Given the description of an element on the screen output the (x, y) to click on. 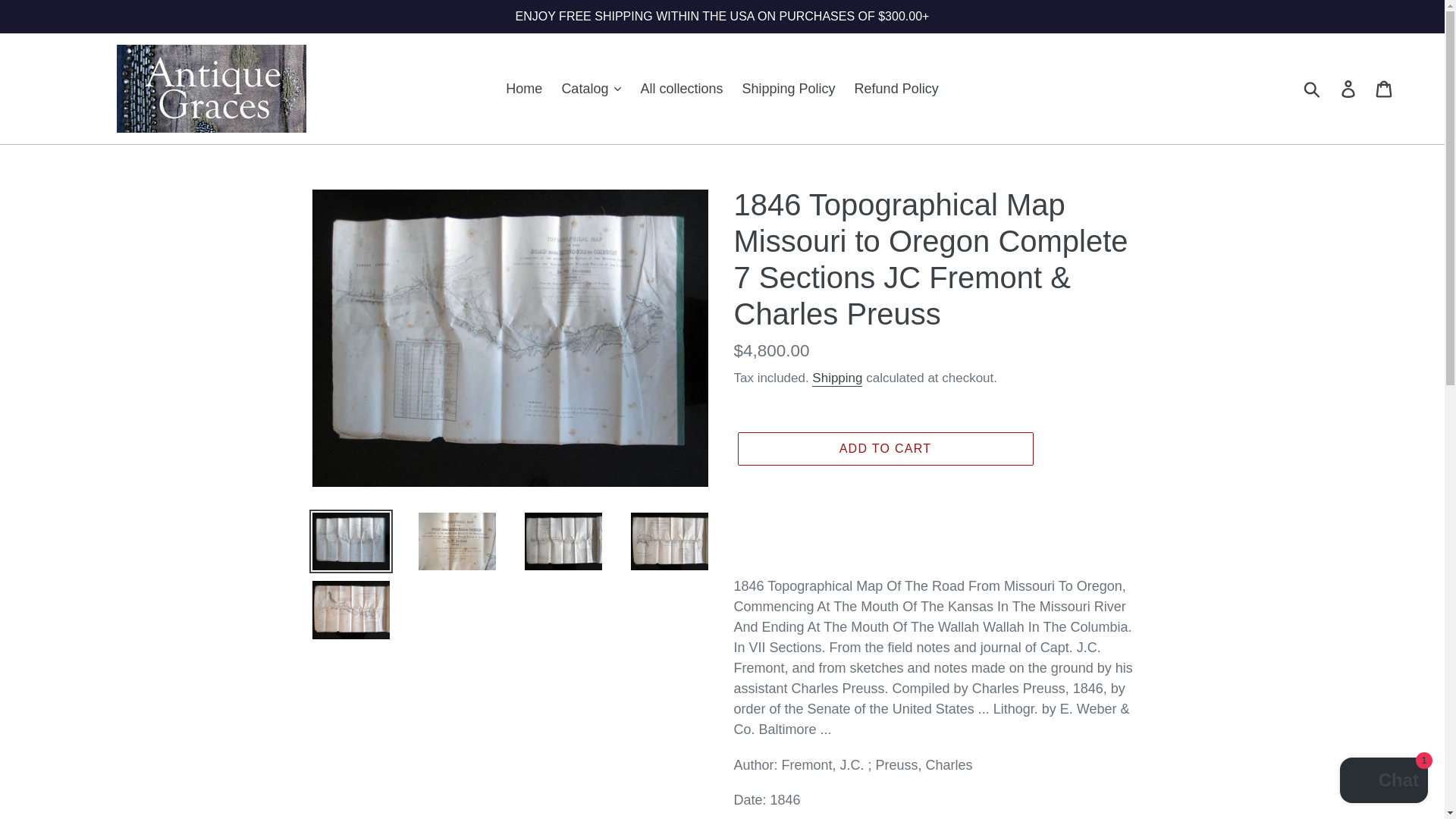
Home (523, 88)
Shipping Policy (788, 88)
Log in (1349, 89)
All collections (680, 88)
Shopify online store chat (1383, 781)
Submit (1313, 88)
Cart (1385, 89)
Refund Policy (896, 88)
